Given the description of an element on the screen output the (x, y) to click on. 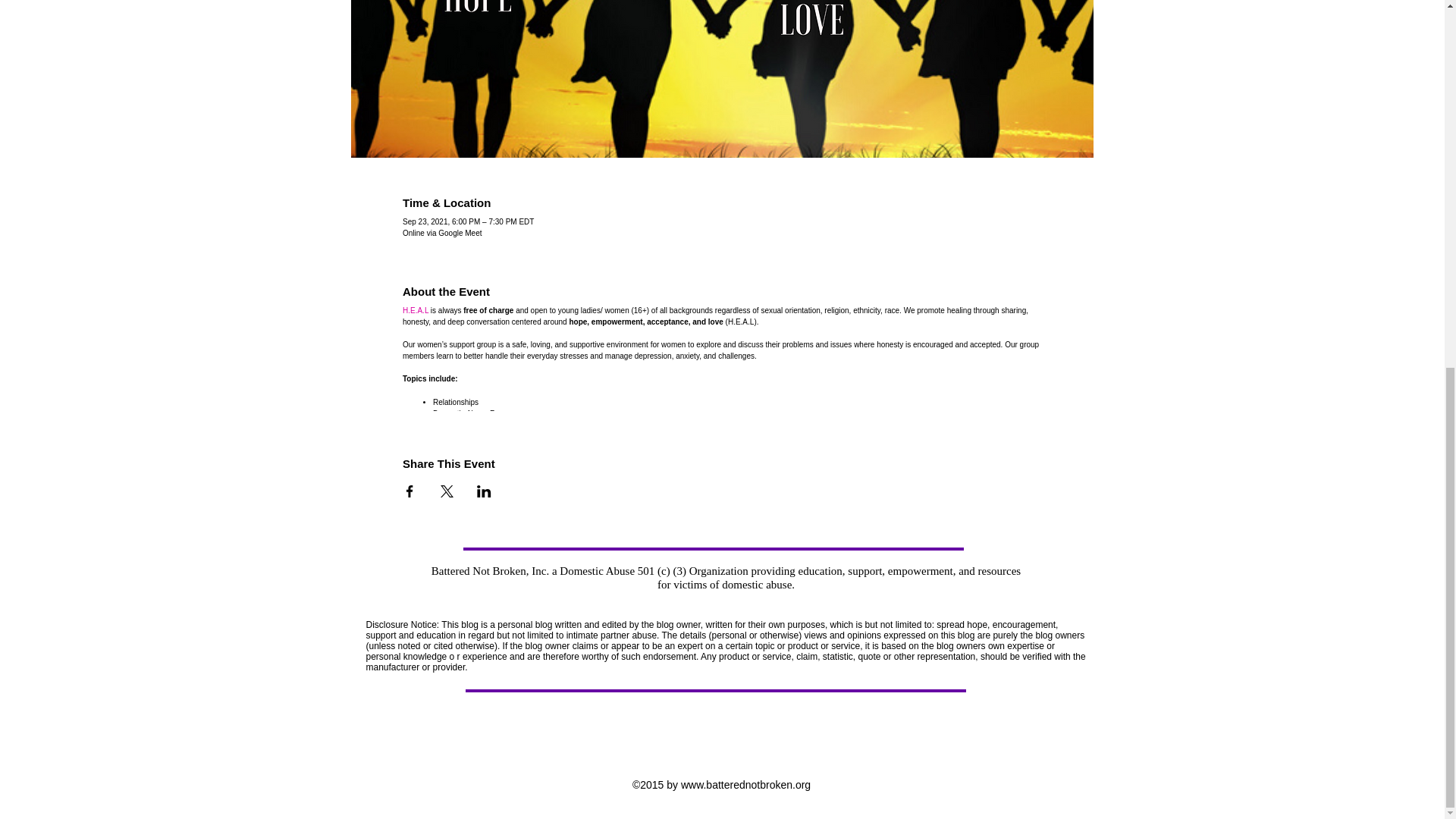
www.batterednotbroken.org (745, 784)
H.E.A.L (415, 310)
